Given the description of an element on the screen output the (x, y) to click on. 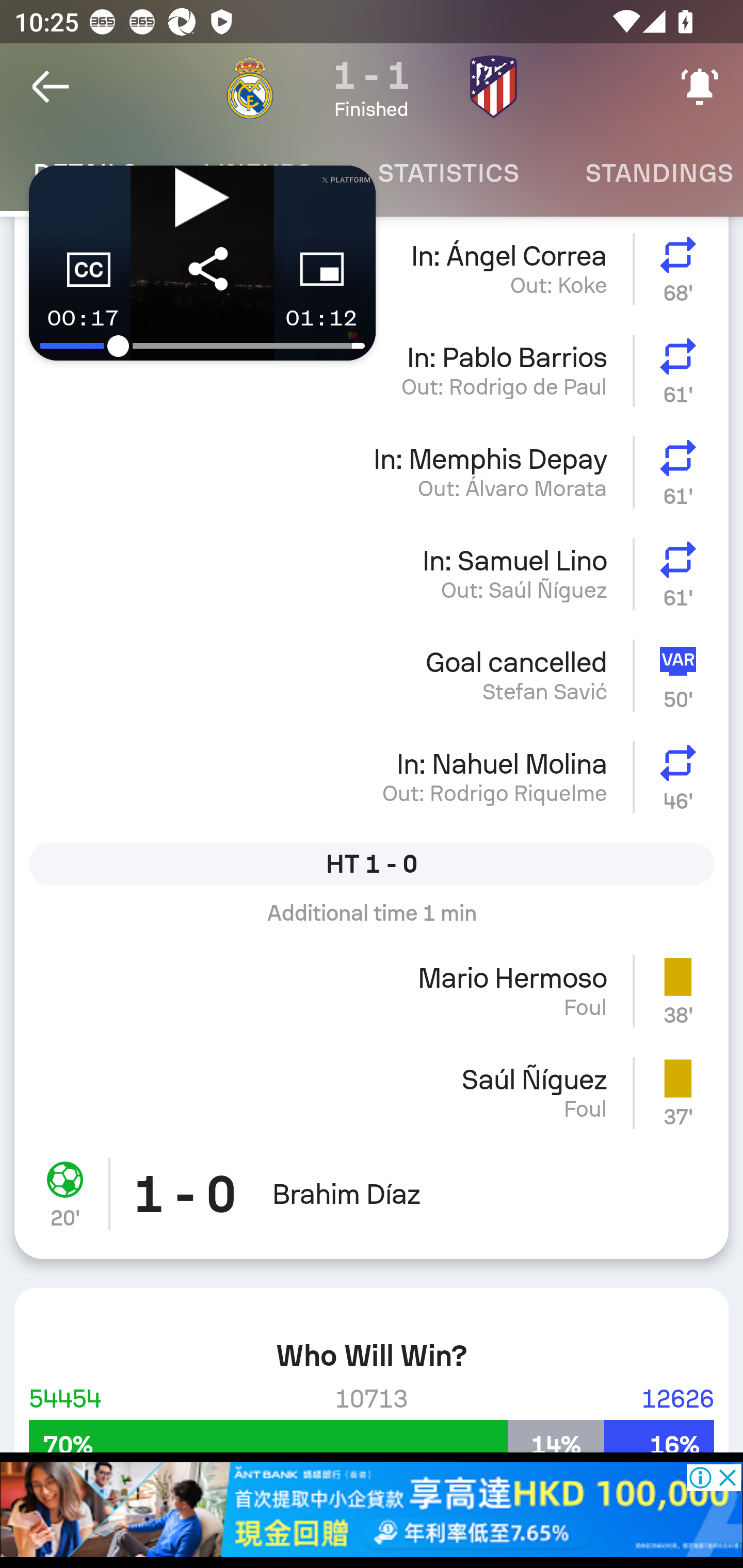
Navigate up (50, 86)
Statistics STATISTICS (448, 173)
Standings STANDINGS (647, 173)
In: Samuel Lino Out: Saúl Ñíguez Substitution 61' (371, 573)
Goal cancelled Stefan Savić VAR VAR 50' (371, 674)
VAR (681, 674)
HT 1 - 0 (371, 863)
Additional time 1 min (371, 920)
Mario Hermoso Foul Yellow card 38' (371, 990)
Saúl Ñíguez Foul Yellow card 37' (371, 1092)
Goal 20'  1  -  0  Brahim Díaz (371, 1201)
